Given the description of an element on the screen output the (x, y) to click on. 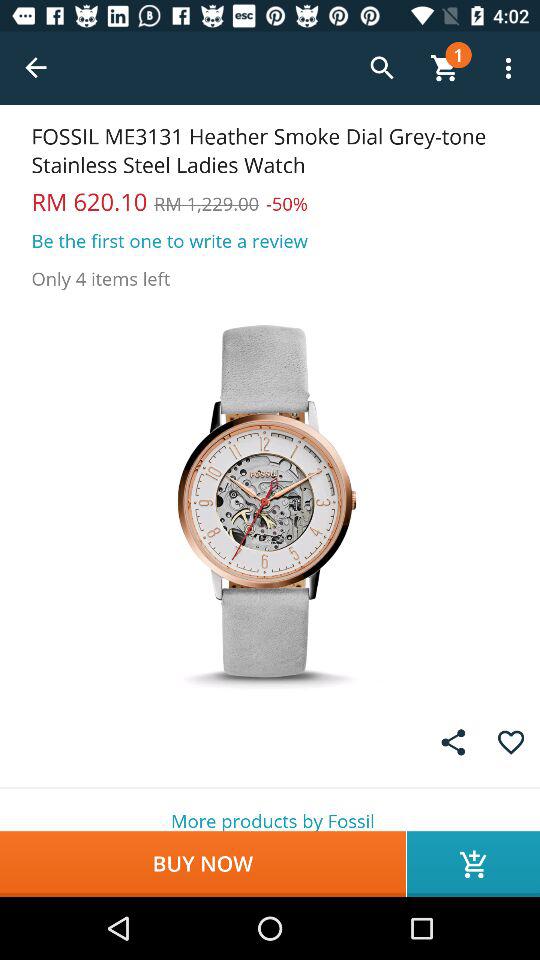
press icon above the more products by item (453, 742)
